Given the description of an element on the screen output the (x, y) to click on. 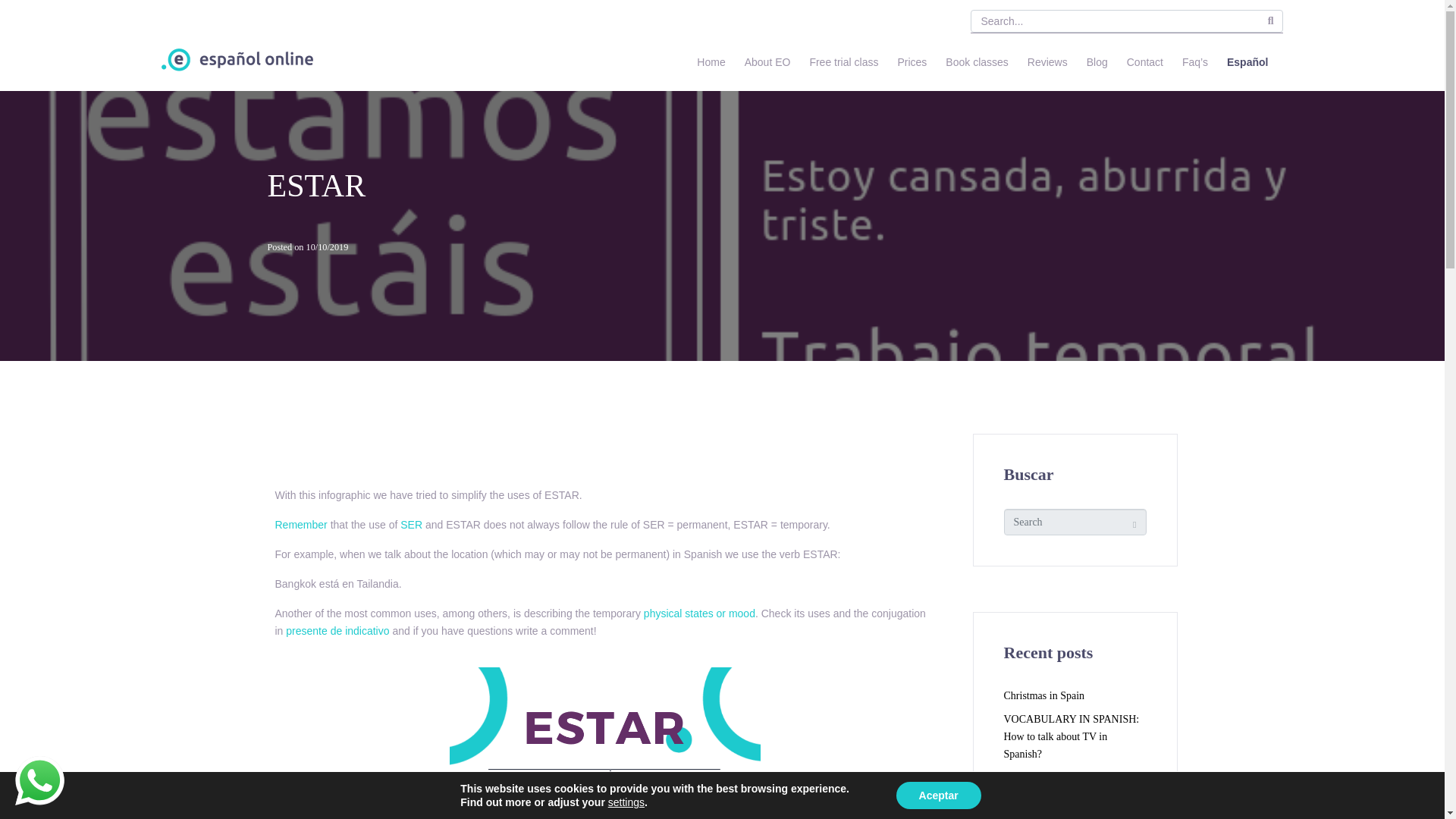
physical states or mood (699, 613)
Blog (1096, 62)
Book classes (976, 62)
Reviews (1047, 62)
SER (411, 524)
Home (710, 62)
presente de indicativo (336, 630)
Remember (300, 524)
About EO (767, 62)
Contact (1144, 62)
Free trial class (843, 62)
Prices (912, 62)
